Given the description of an element on the screen output the (x, y) to click on. 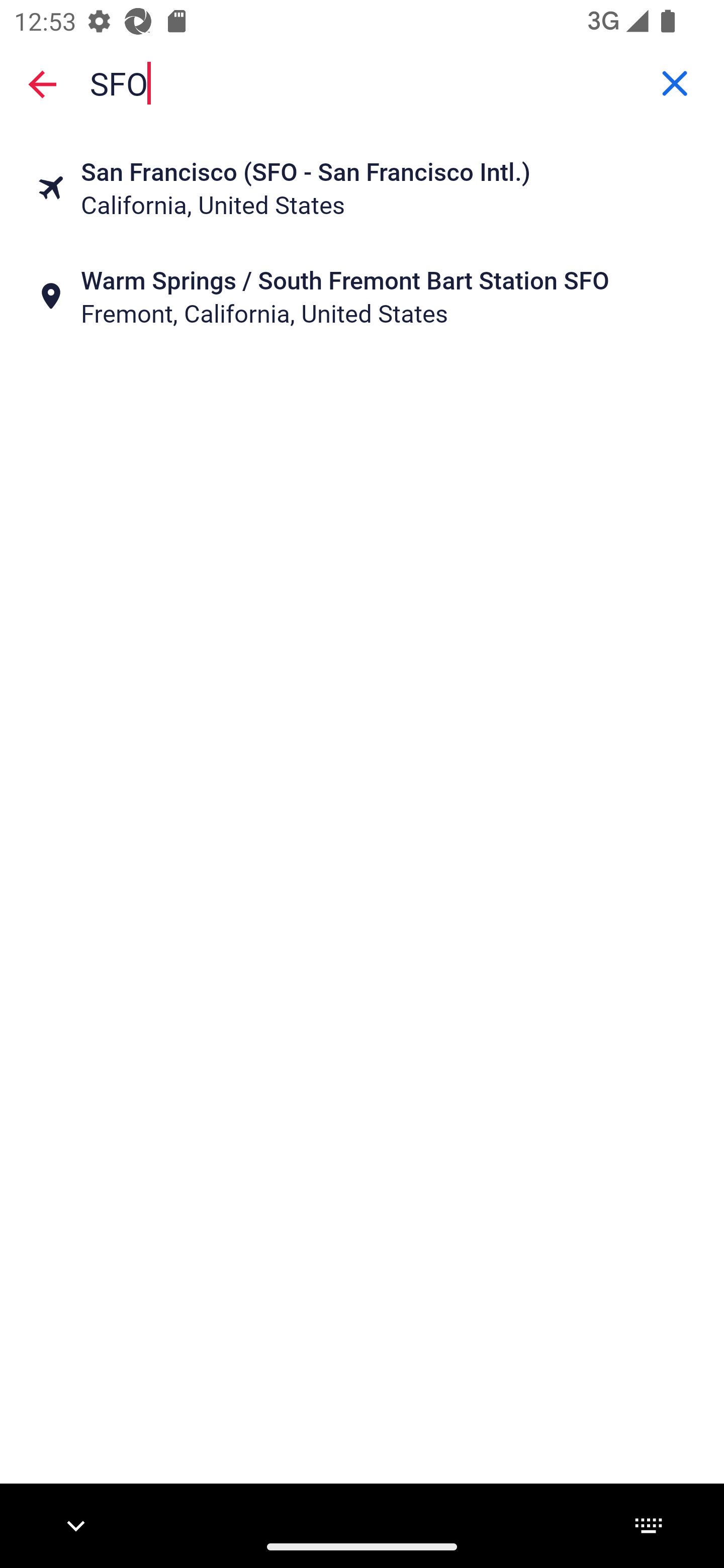
Close search screen (42, 84)
Clear Drop-off (674, 82)
Drop-off, SFO (361, 82)
